Given the description of an element on the screen output the (x, y) to click on. 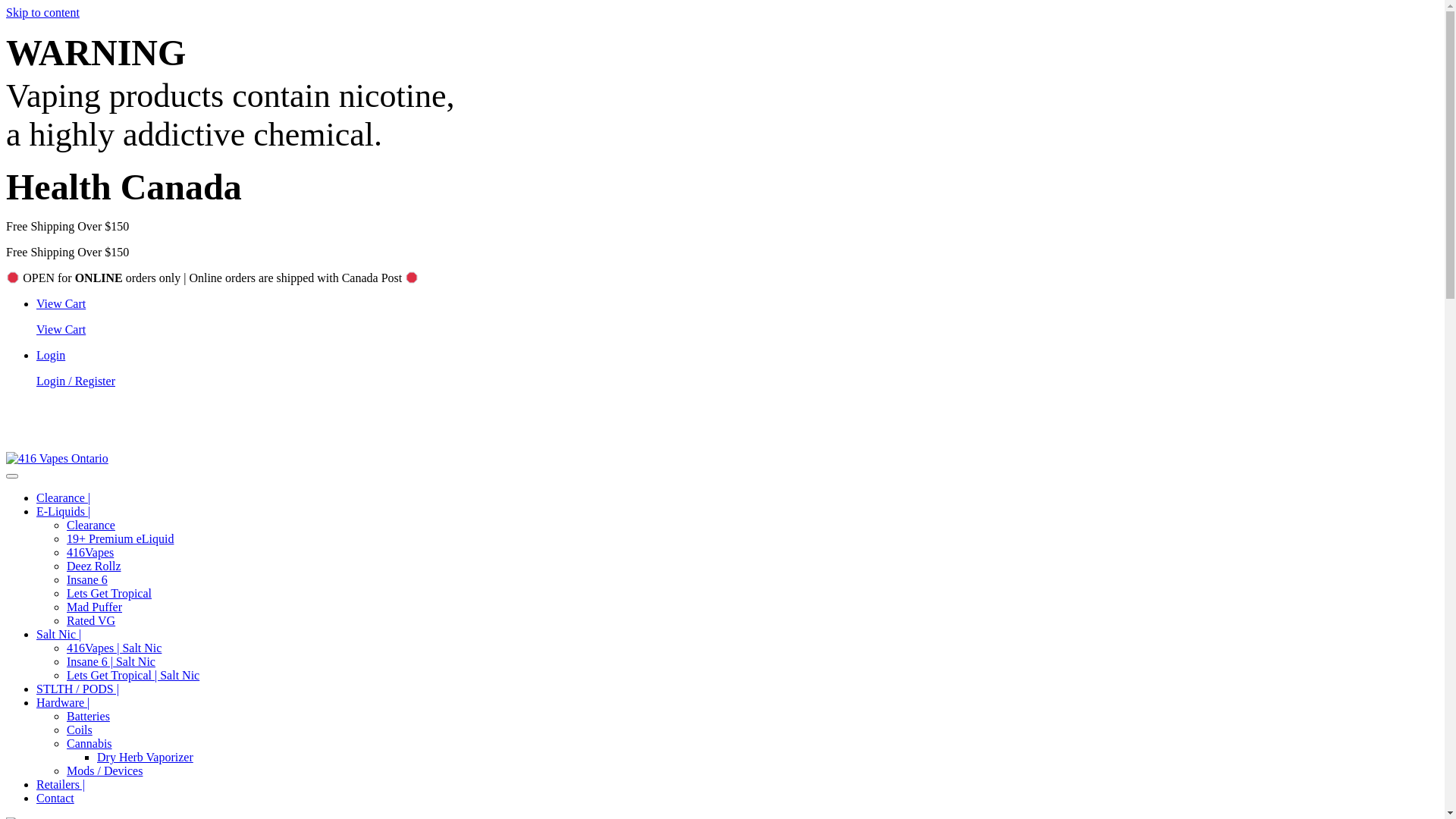
View Cart Element type: text (60, 303)
Insane 6 Element type: text (86, 579)
View Cart Element type: text (737, 329)
Contact Element type: text (55, 797)
STLTH / PODS | Element type: text (77, 688)
Clearance Element type: text (90, 524)
info@416vapes.ca Element type: text (1391, 432)
Mad Puffer Element type: text (94, 606)
Hardware | Element type: text (62, 702)
Skip to content Element type: text (42, 12)
Retailers | Element type: text (60, 784)
Cannabis Element type: text (89, 743)
E-Liquids | Element type: text (63, 511)
Mods / Devices Element type: text (104, 770)
Login / Register Element type: text (737, 381)
Insane 6 | Salt Nic Element type: text (110, 661)
Login Element type: text (50, 354)
Salt Nic | Element type: text (58, 633)
Lets Get Tropical | Salt Nic Element type: text (132, 674)
Deez Rollz Element type: text (93, 565)
Batteries Element type: text (87, 715)
416 Vapes Ontario Element type: hover (57, 458)
Dry Herb Vaporizer Element type: text (145, 756)
Lets Get Tropical Element type: text (108, 592)
Coils Element type: text (79, 729)
Rated VG Element type: text (90, 620)
416Vapes Element type: text (89, 552)
416Vapes | Salt Nic Element type: text (113, 647)
Clearance | Element type: text (63, 497)
19+ Premium eLiquid Element type: text (119, 538)
